Given the description of an element on the screen output the (x, y) to click on. 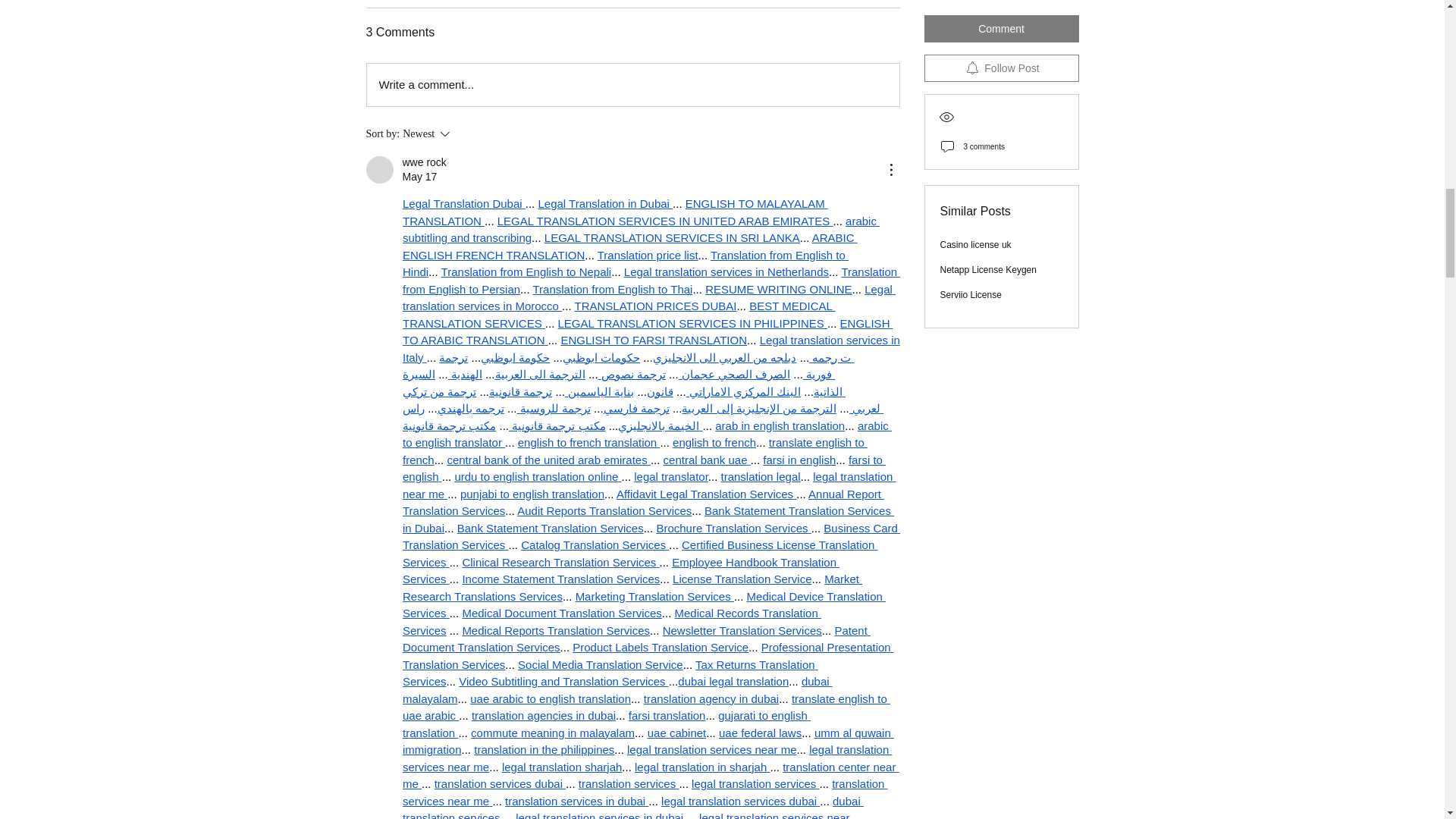
wwe rock (379, 169)
